Given the description of an element on the screen output the (x, y) to click on. 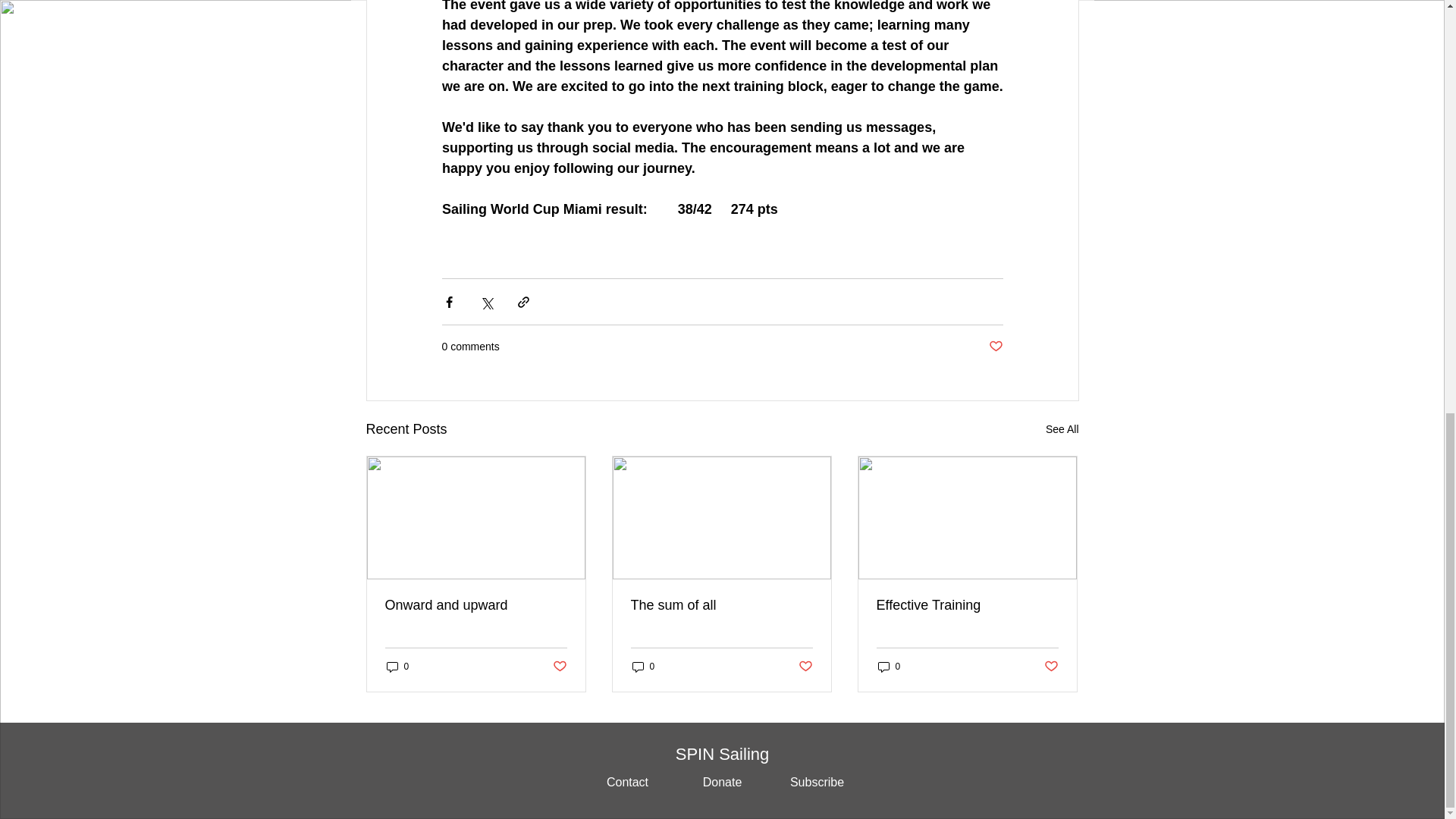
0 (397, 667)
Onward and upward (476, 605)
Effective Training (967, 605)
Contact (626, 782)
The sum of all (721, 605)
Post not marked as liked (804, 666)
Post not marked as liked (995, 346)
0 (643, 667)
Post not marked as liked (558, 666)
Post not marked as liked (1050, 666)
Donate (722, 782)
See All (1061, 429)
Subscribe (815, 782)
0 (889, 667)
